Given the description of an element on the screen output the (x, y) to click on. 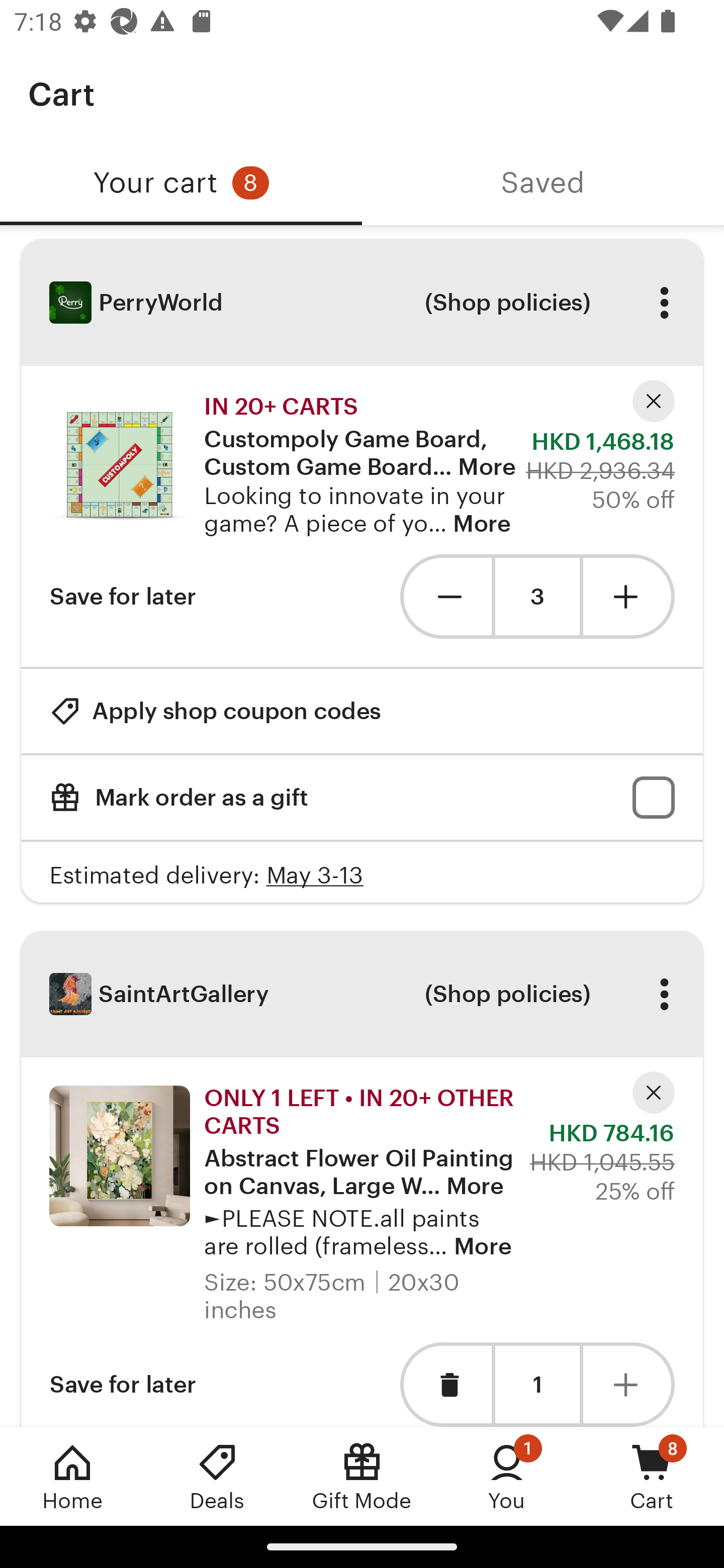
Saved, tab 2 of 2 Saved (543, 183)
PerryWorld (Shop policies) More options (361, 302)
(Shop policies) (507, 302)
More options (663, 302)
Save for later (122, 596)
Remove one unit from cart (445, 596)
Add one unit to cart (628, 596)
3 (537, 597)
Apply shop coupon codes (215, 710)
Mark order as a gift (361, 797)
SaintArtGallery (Shop policies) More options (361, 993)
(Shop policies) (507, 993)
More options (663, 993)
Save for later (122, 1384)
Remove item from cart (445, 1384)
Add one unit to cart (628, 1384)
1 (537, 1384)
Home (72, 1475)
Deals (216, 1475)
Gift Mode (361, 1475)
You, 1 new notification You (506, 1475)
